Given the description of an element on the screen output the (x, y) to click on. 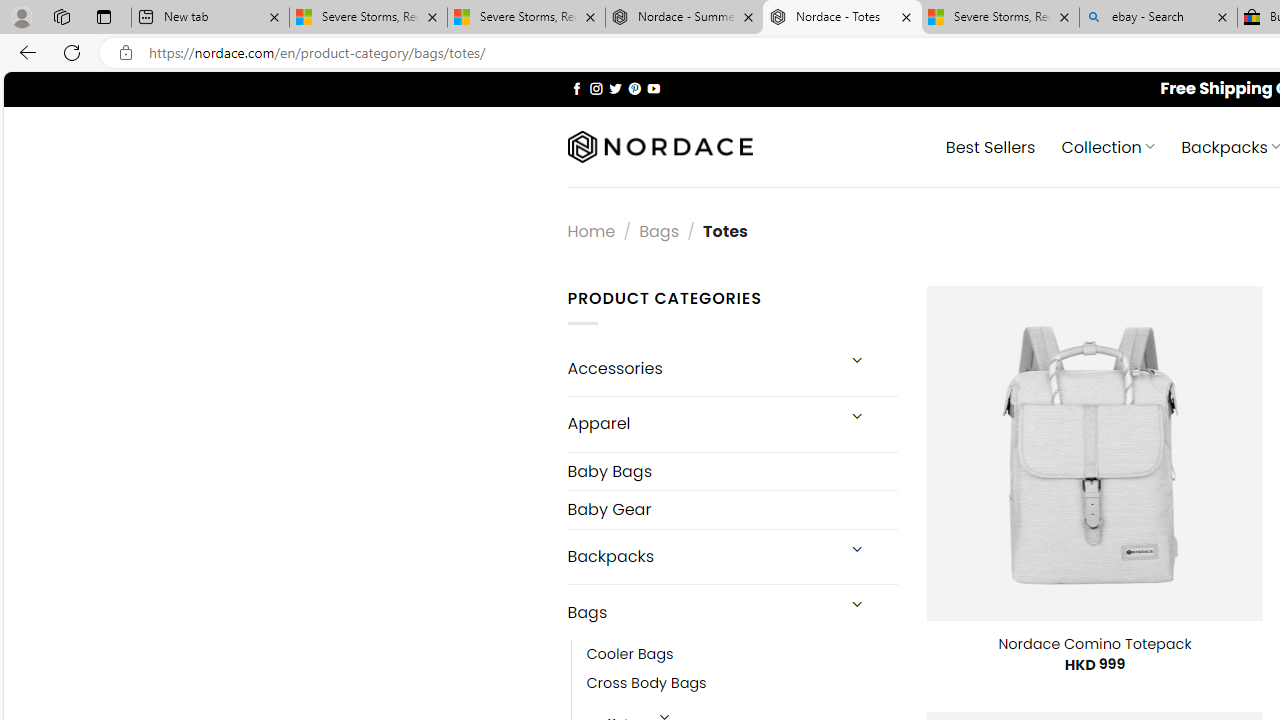
Follow on Pinterest (634, 88)
Cross Body Bags (742, 683)
Nordace - Summer Adventures 2024 (683, 17)
Baby Bags (732, 471)
Follow on Facebook (576, 88)
  Best Sellers (989, 146)
Cooler Bags (742, 655)
Nordace Comino Totepack (1094, 643)
Home (591, 230)
